Given the description of an element on the screen output the (x, y) to click on. 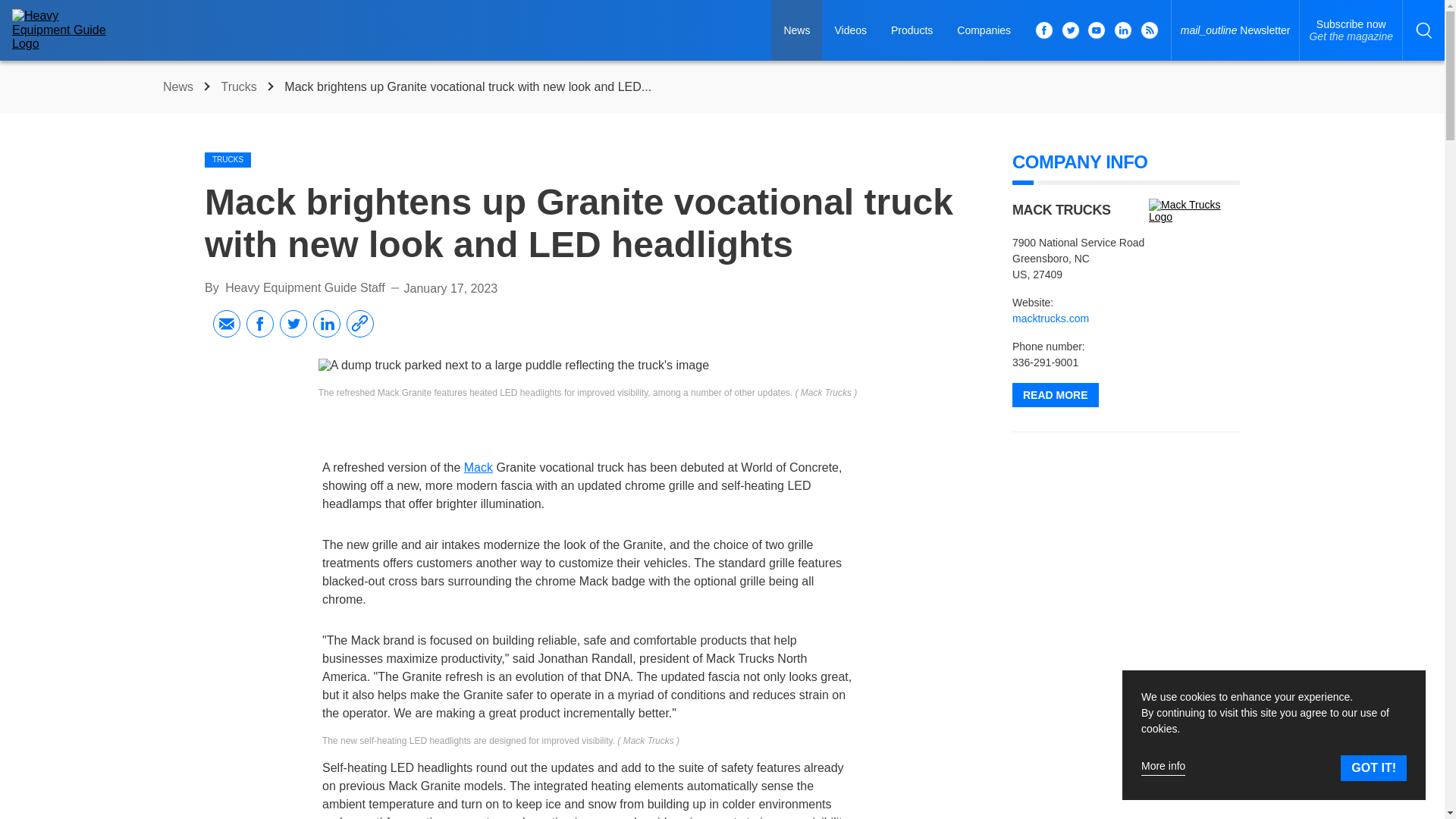
TRUCKS (227, 159)
macktrucks.com (1050, 318)
Heavy Equipment Guide Staff (305, 287)
News (179, 86)
Mack (478, 467)
Products (911, 30)
Companies (1351, 30)
READ MORE (983, 30)
